Given the description of an element on the screen output the (x, y) to click on. 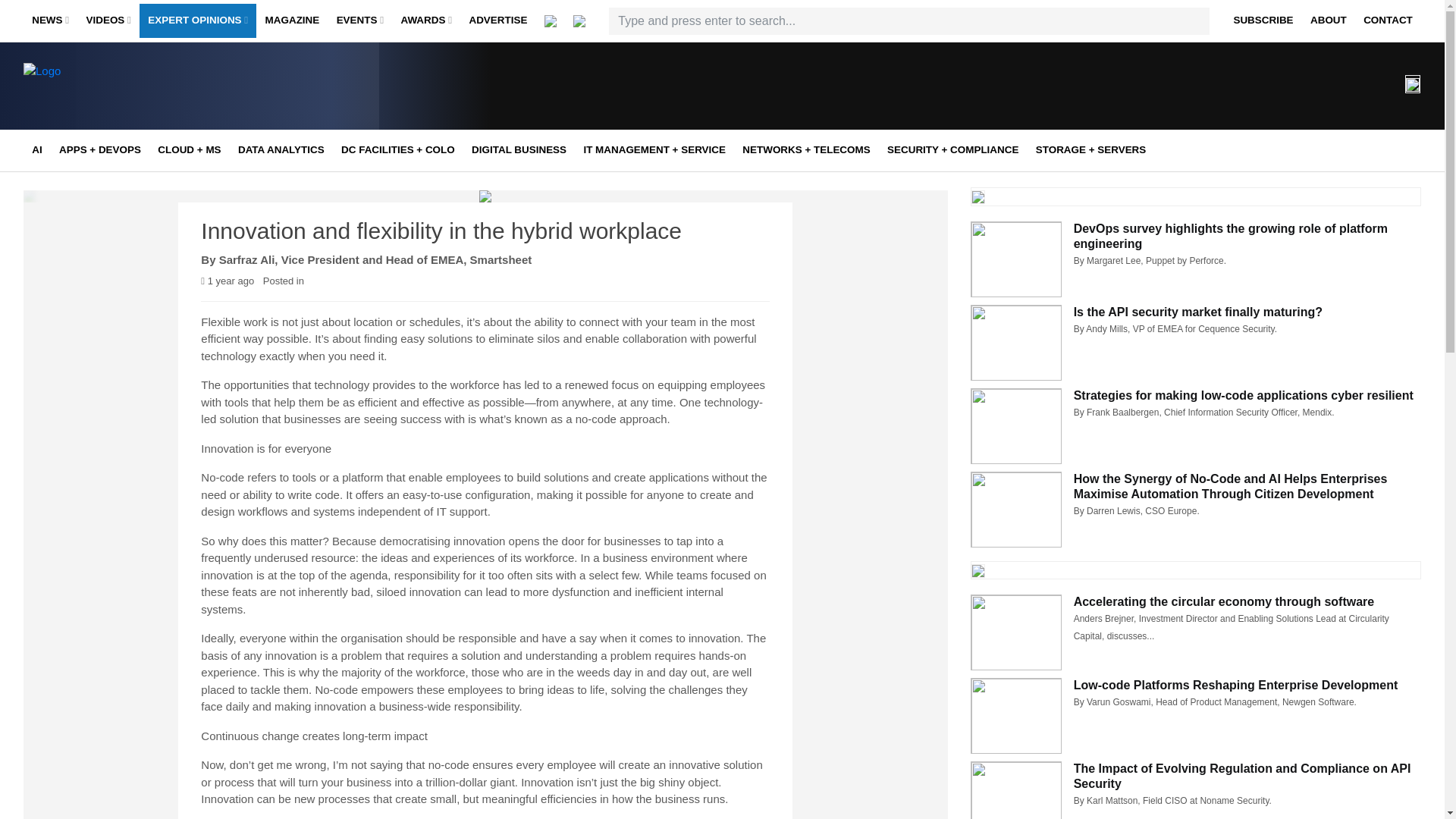
NEWS (50, 21)
All Videos (180, 52)
All News (126, 52)
VIDEOS (108, 21)
All Expert Opinions (242, 52)
EXPERT OPINIONS (197, 21)
